Given the description of an element on the screen output the (x, y) to click on. 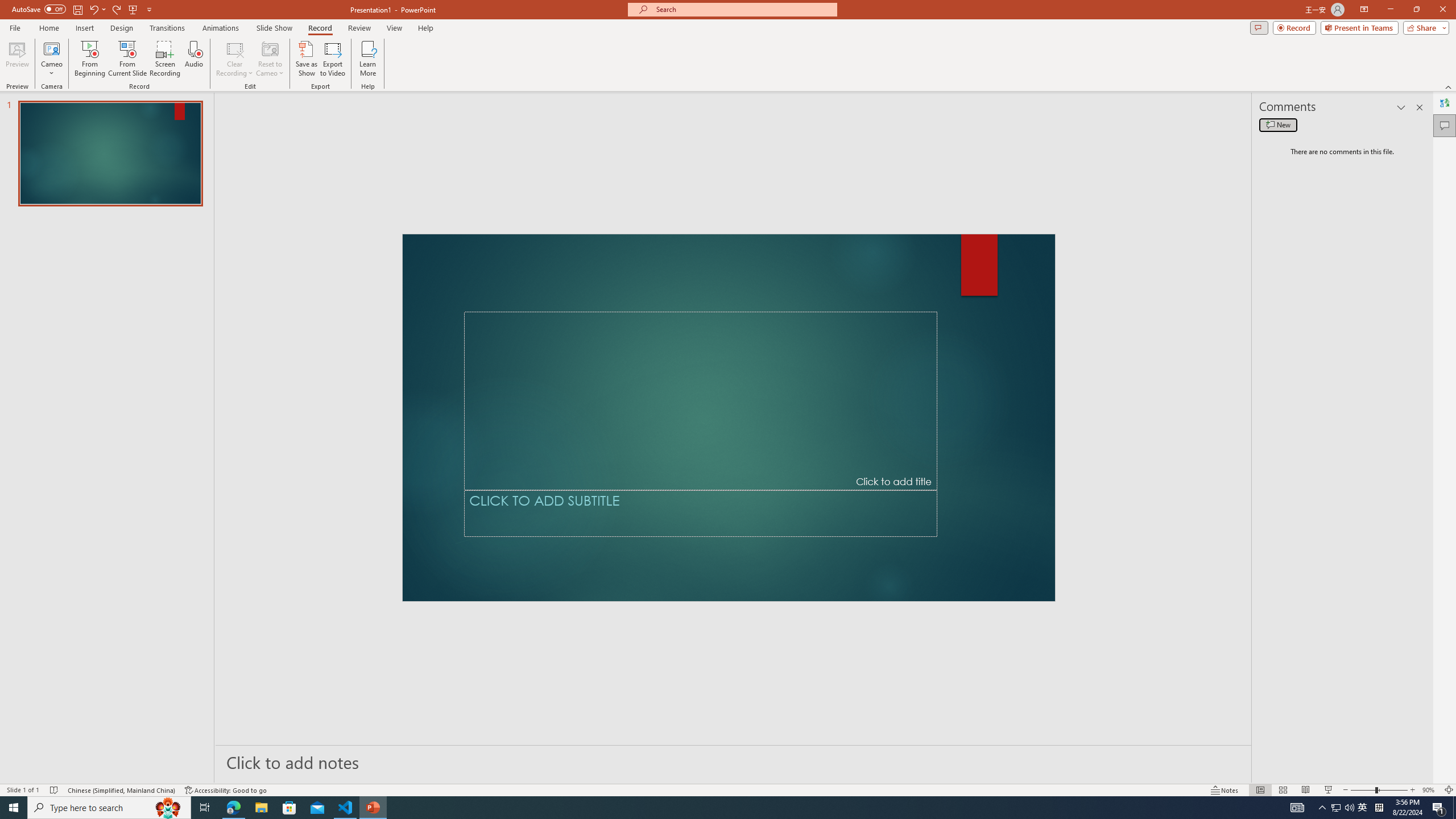
Clear Recording (234, 58)
